Given the description of an element on the screen output the (x, y) to click on. 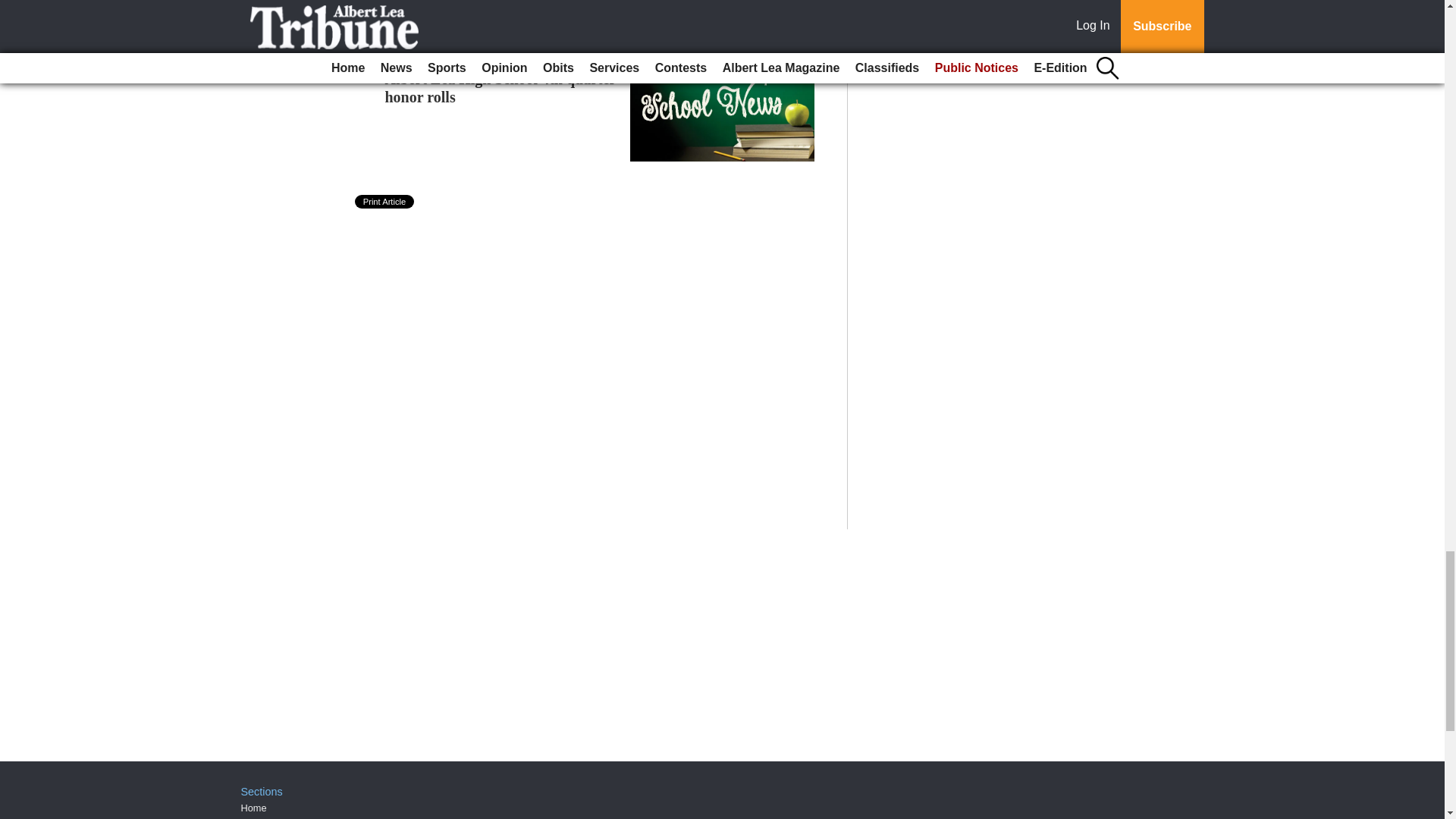
Albert Lea High School 4th quarter honor rolls (500, 87)
Albert Lea finance director to retire in December (544, 27)
